Given the description of an element on the screen output the (x, y) to click on. 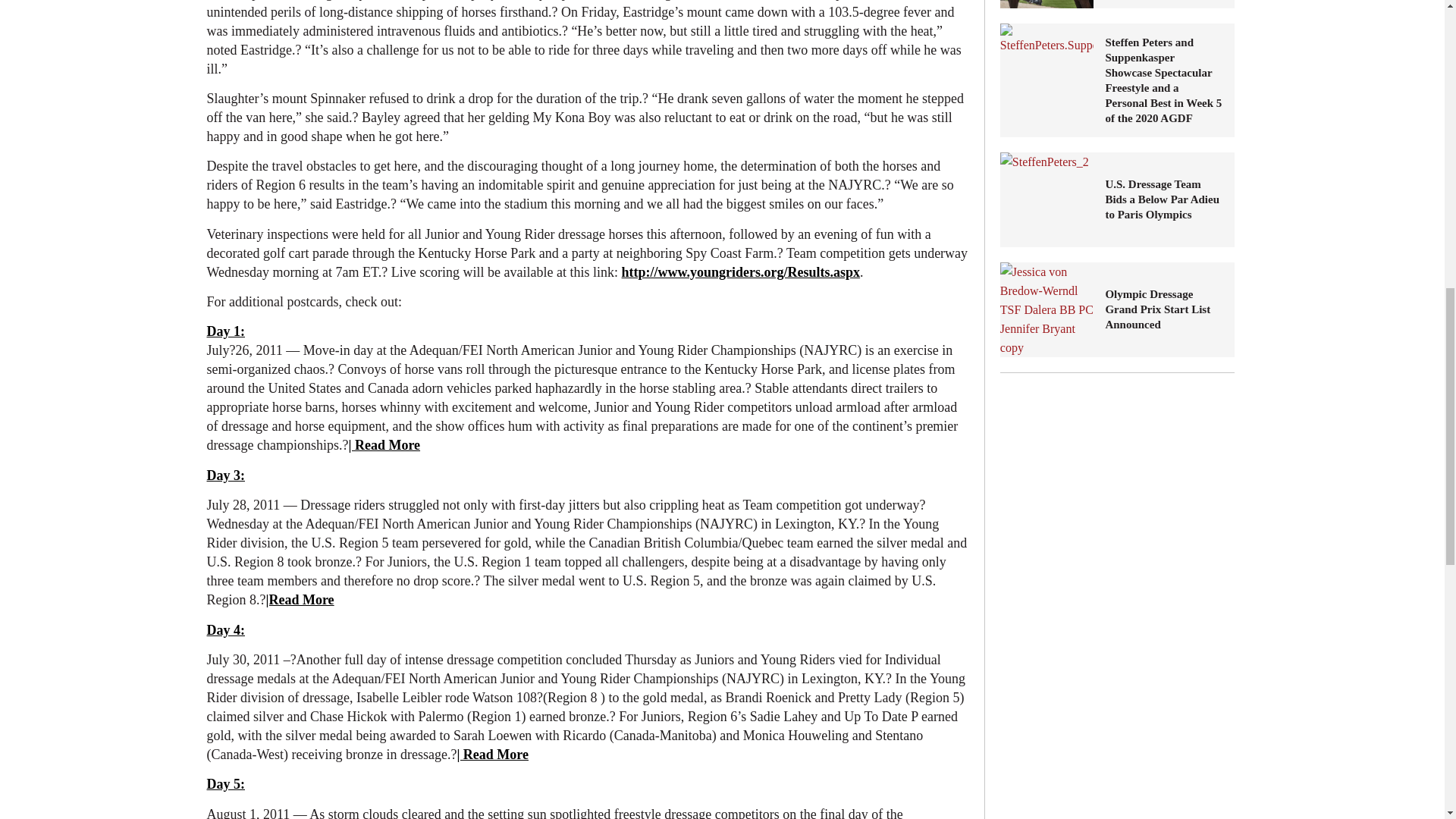
Marcus Orlob and Jane Eliminated at Paris Games (1047, 4)
